Given the description of an element on the screen output the (x, y) to click on. 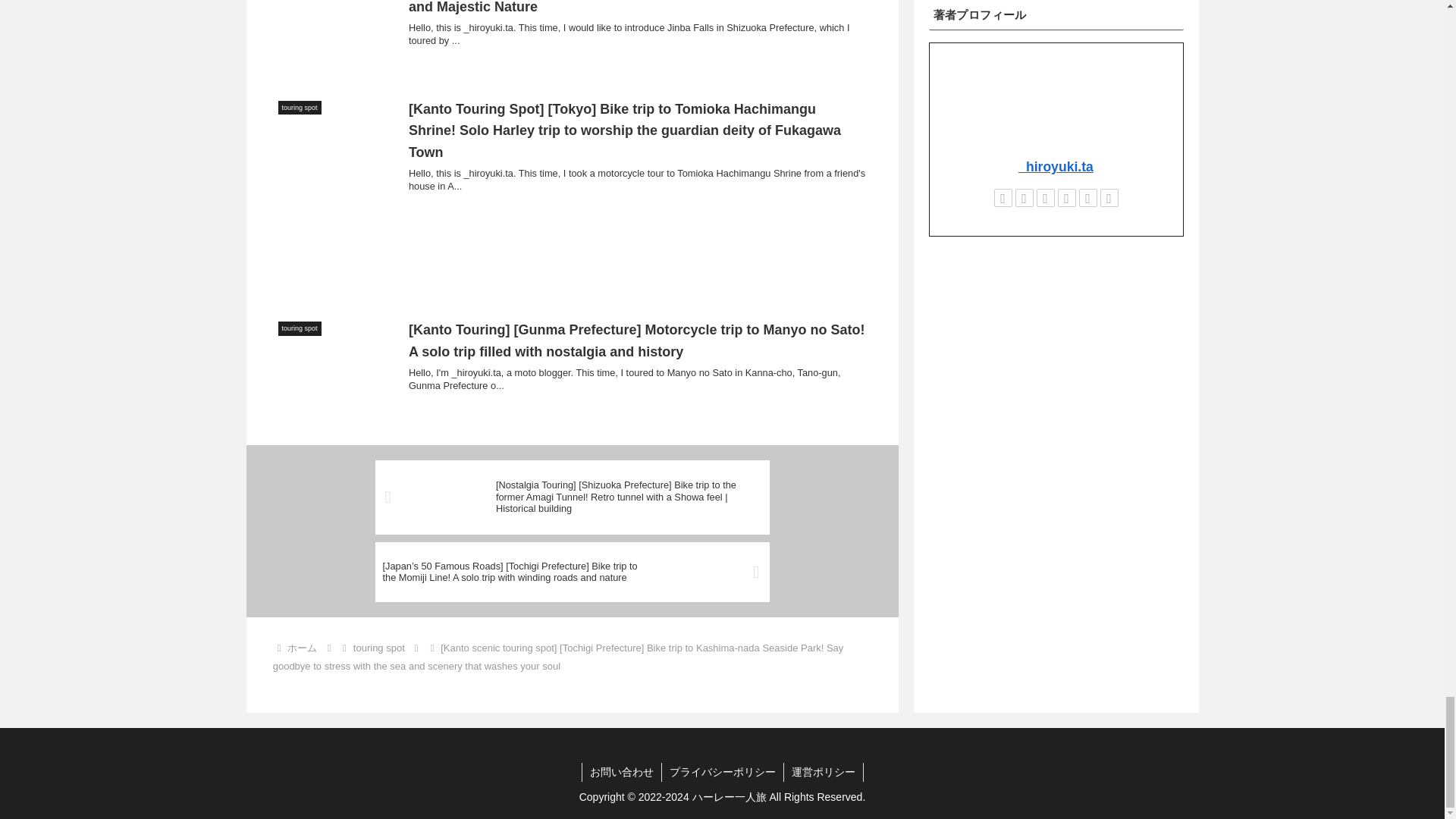
touring spot (378, 647)
